Given the description of an element on the screen output the (x, y) to click on. 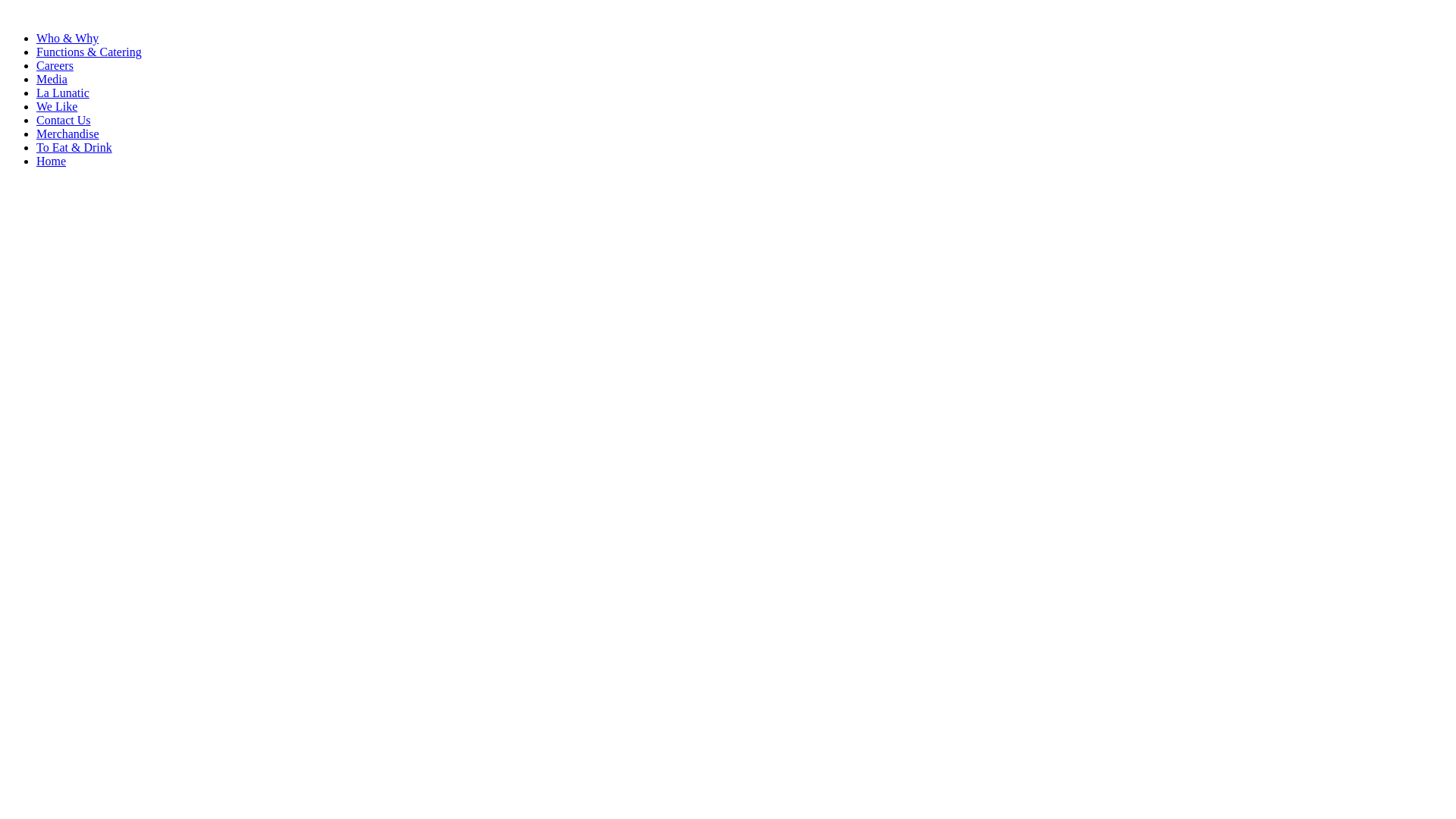
Functions & Catering Element type: text (88, 51)
La Lunatic Element type: text (62, 92)
Media Element type: text (51, 78)
We Like Element type: text (56, 106)
To Eat & Drink Element type: text (74, 147)
Contact Us Element type: text (63, 119)
Careers Element type: text (54, 65)
Home Element type: text (50, 160)
Who & Why Element type: text (67, 37)
Merchandise Element type: text (67, 133)
